Given the description of an element on the screen output the (x, y) to click on. 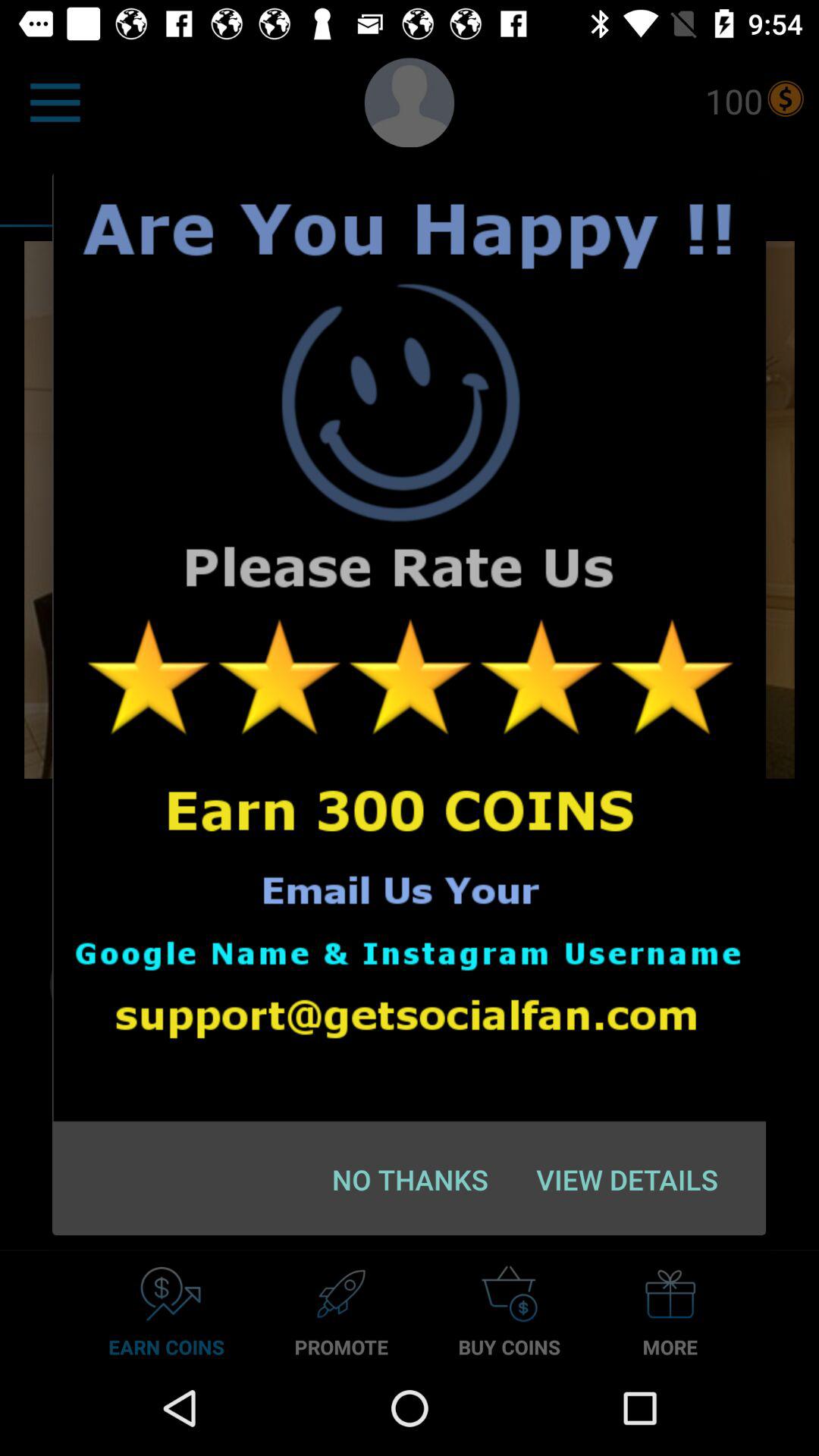
select the icon to the right of no thanks icon (627, 1179)
